Given the description of an element on the screen output the (x, y) to click on. 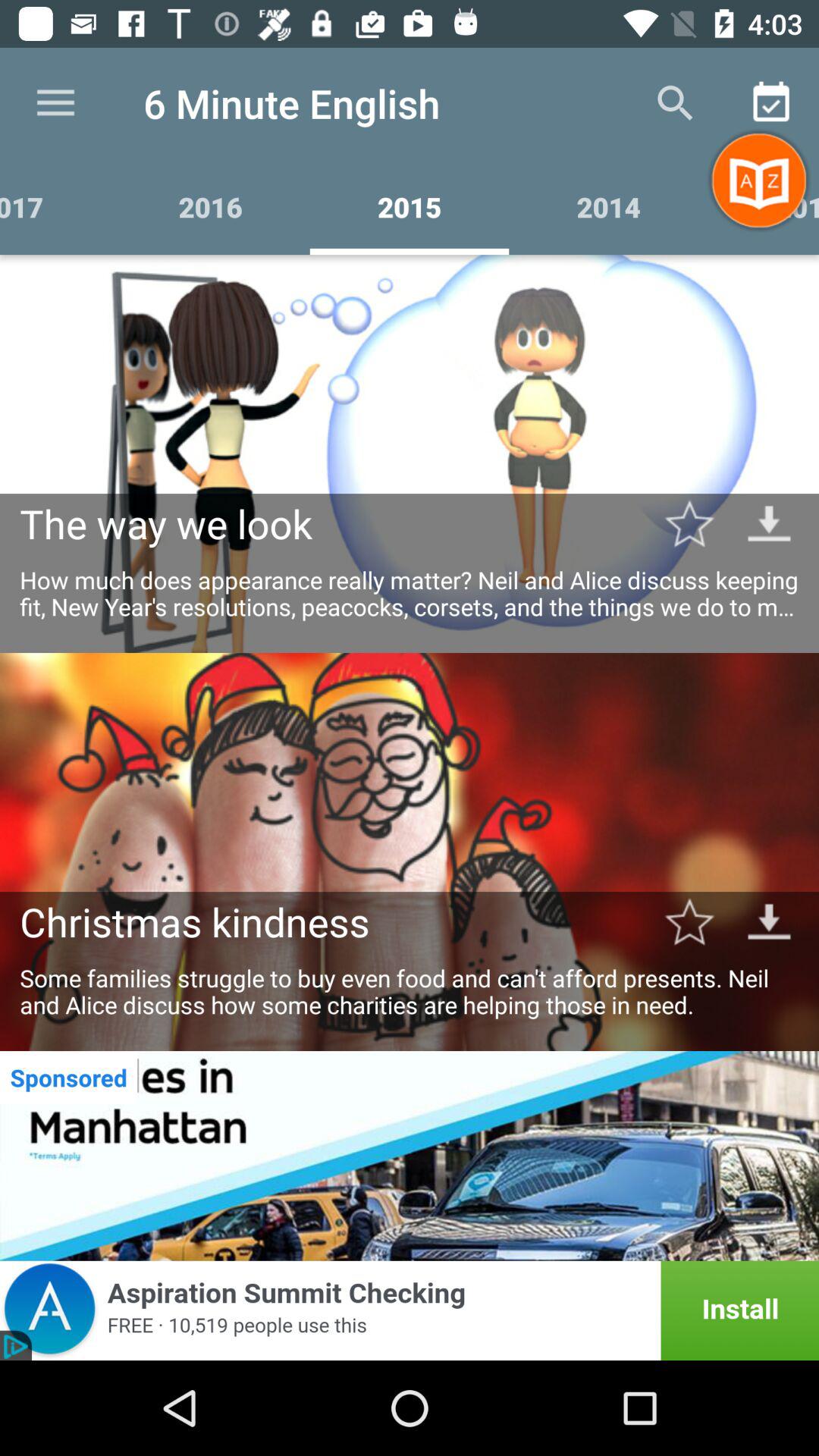
select sponsored icon (68, 1077)
